Given the description of an element on the screen output the (x, y) to click on. 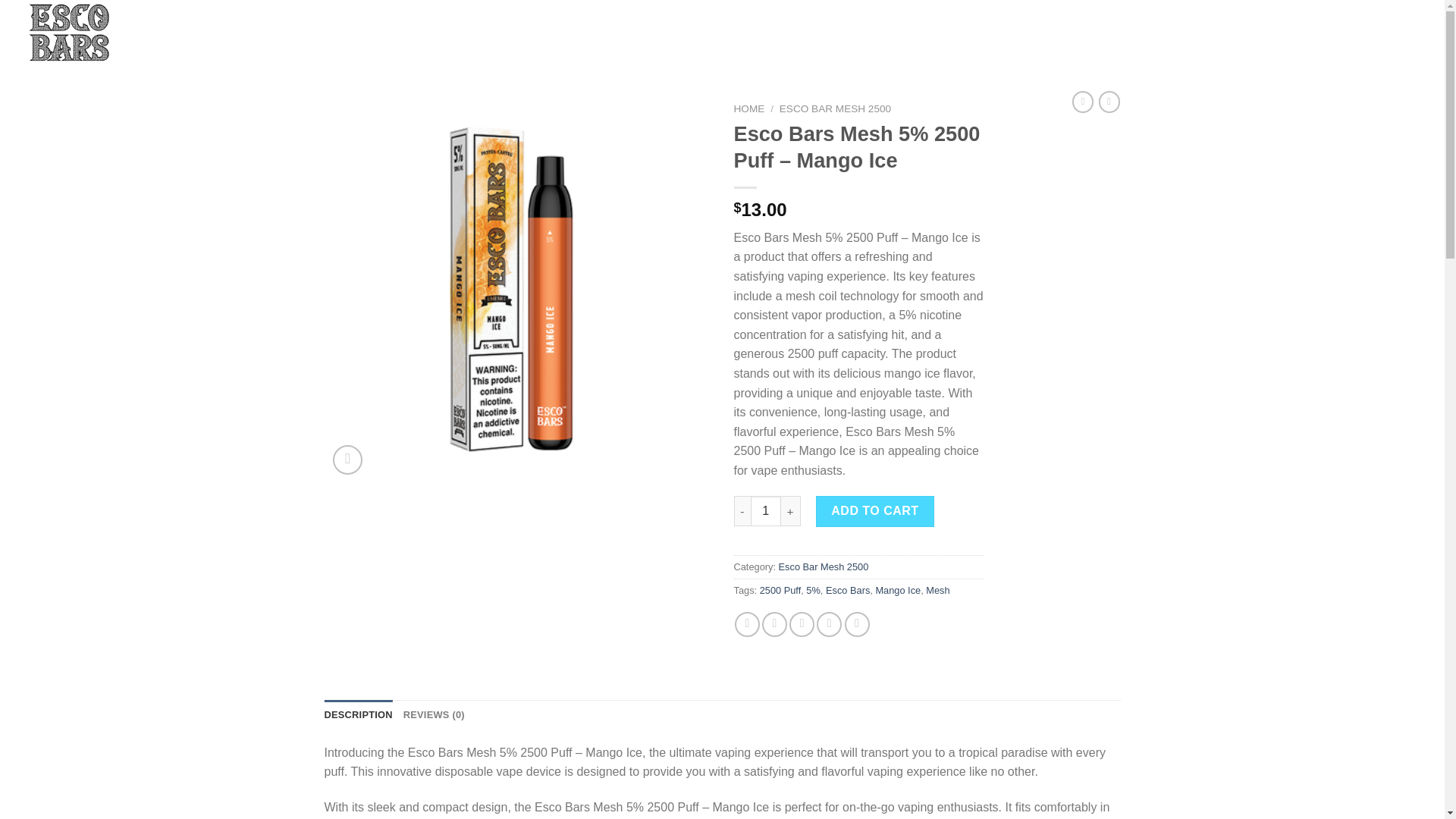
ESCO BAR MESH 2500 (834, 108)
BLOG (261, 32)
Zoom (347, 460)
escobarsvape.org (87, 32)
Pin on Pinterest (828, 624)
2500 Puff (781, 590)
Esco Bar Mesh 2500 (823, 566)
Share on Facebook (747, 624)
Share on Twitter (774, 624)
Share on LinkedIn (856, 624)
